Given the description of an element on the screen output the (x, y) to click on. 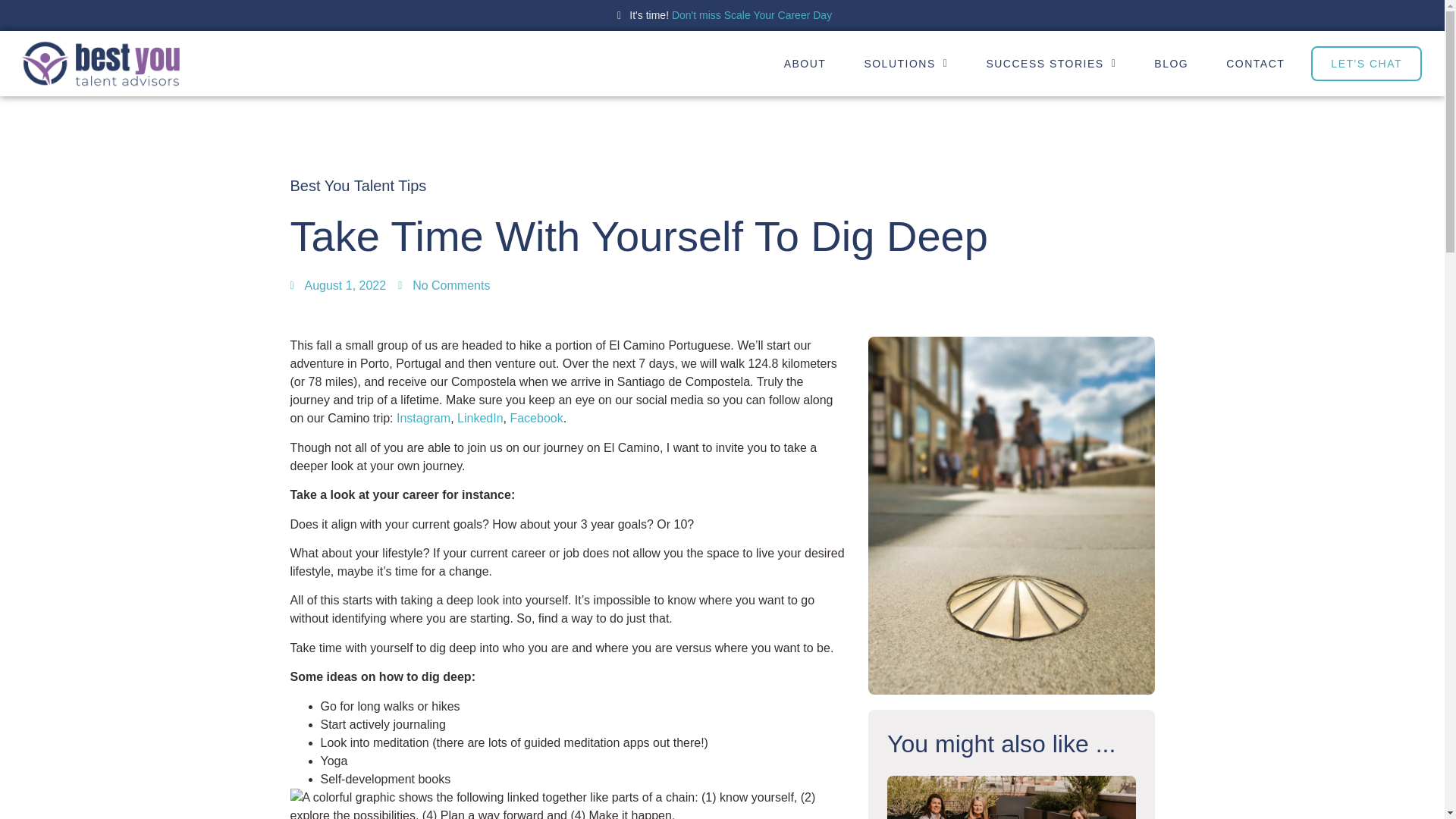
LET'S CHAT (1366, 63)
ABOUT (805, 63)
Facebook (535, 418)
It's time! Don't miss Scale Your Career Day (721, 15)
SUCCESS STORIES (1050, 63)
SOLUTIONS (905, 63)
LinkedIn (480, 418)
CONTACT (1254, 63)
No Comments (443, 285)
BLOG (1171, 63)
